Given the description of an element on the screen output the (x, y) to click on. 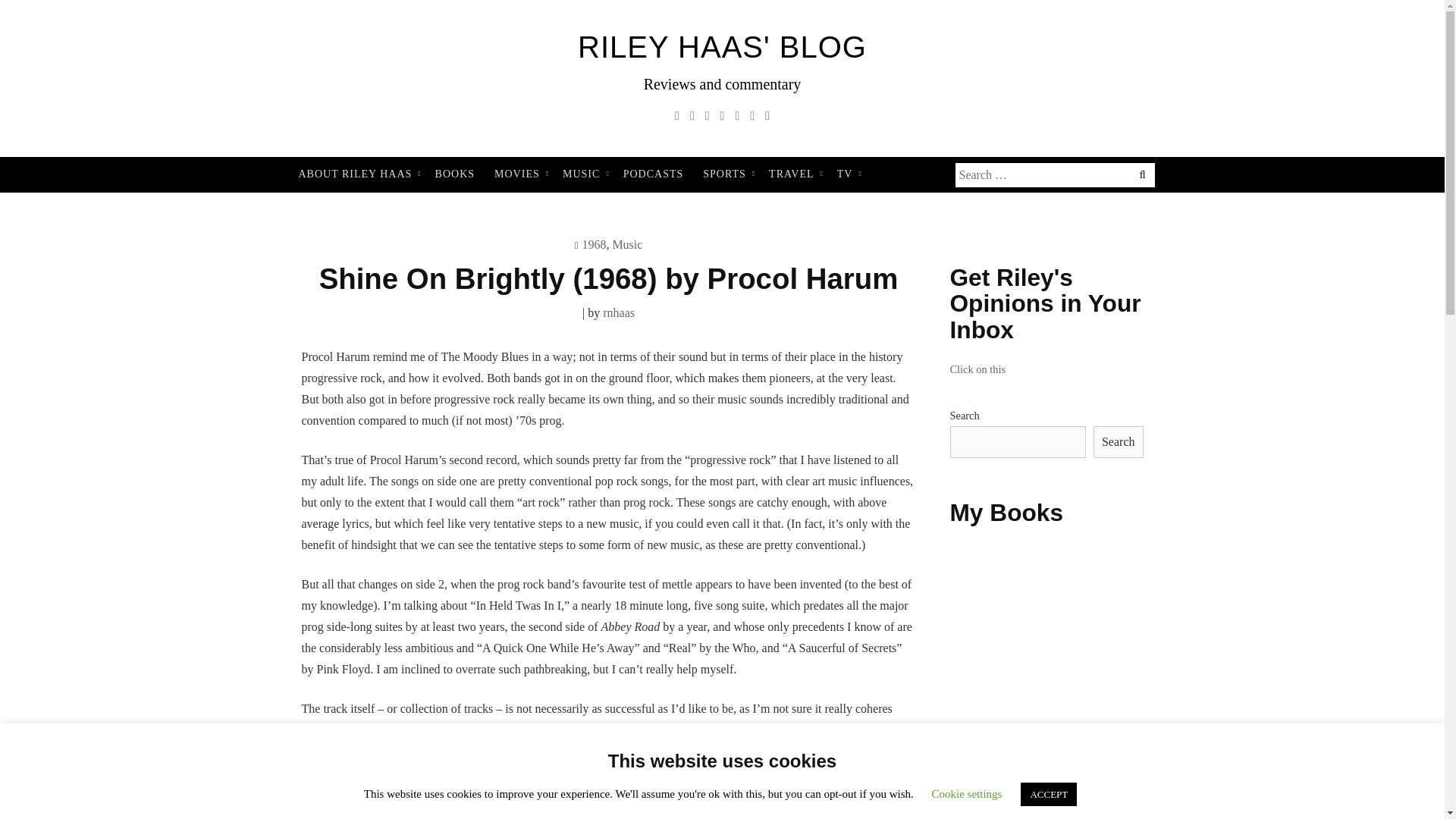
RILEY HAAS' BLOG (722, 46)
MOVIES (518, 174)
BOOKS (454, 174)
ABOUT RILEY HAAS (356, 174)
